Given the description of an element on the screen output the (x, y) to click on. 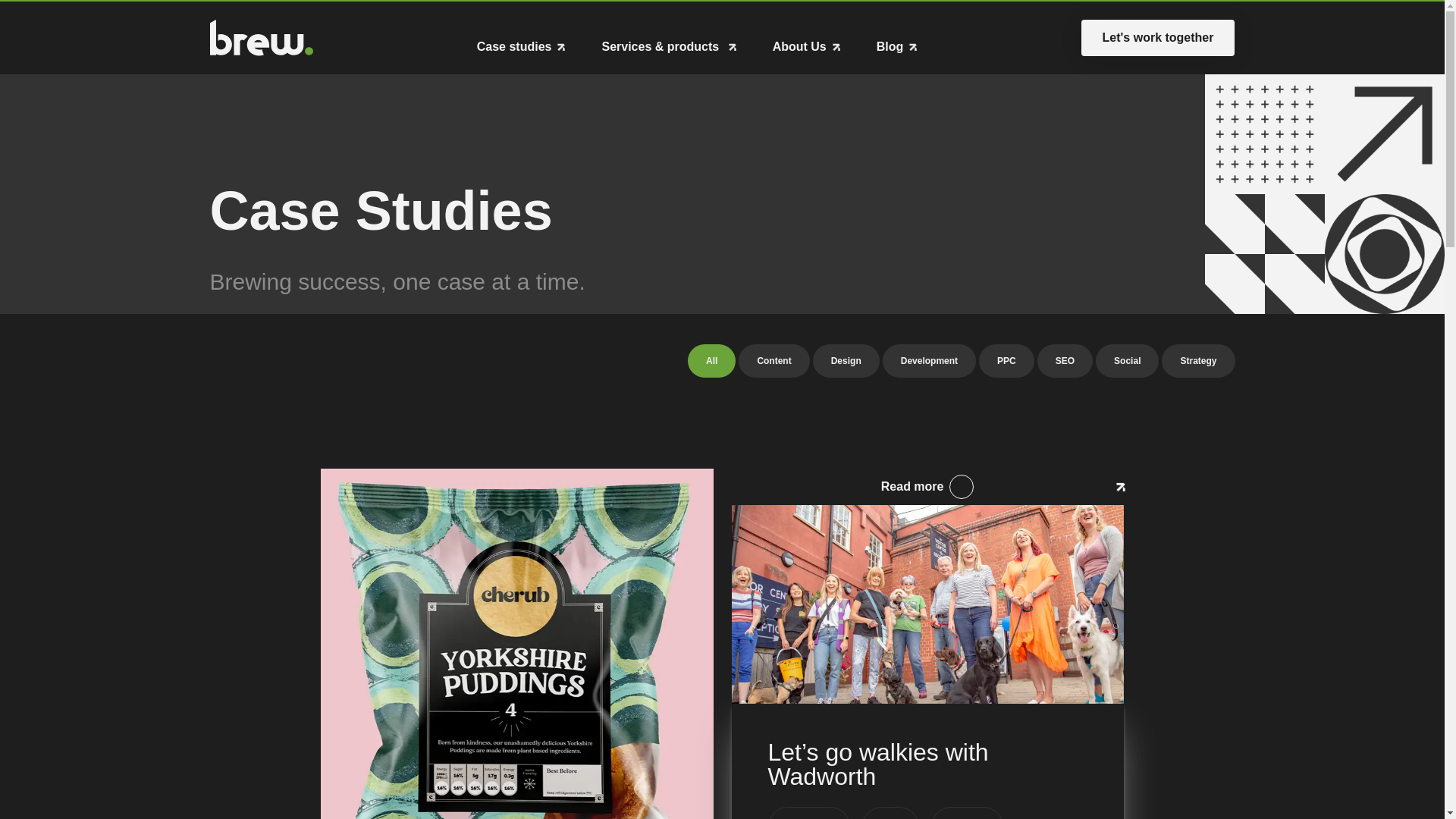
Case studies (521, 46)
Strategy (1197, 360)
Social (1127, 360)
Design (845, 360)
About Us (806, 46)
SEO (721, 360)
Blog (1064, 360)
Let's work together (896, 46)
PPC (1157, 37)
Content (1005, 360)
Read more (773, 360)
All (927, 486)
Development (711, 360)
